Given the description of an element on the screen output the (x, y) to click on. 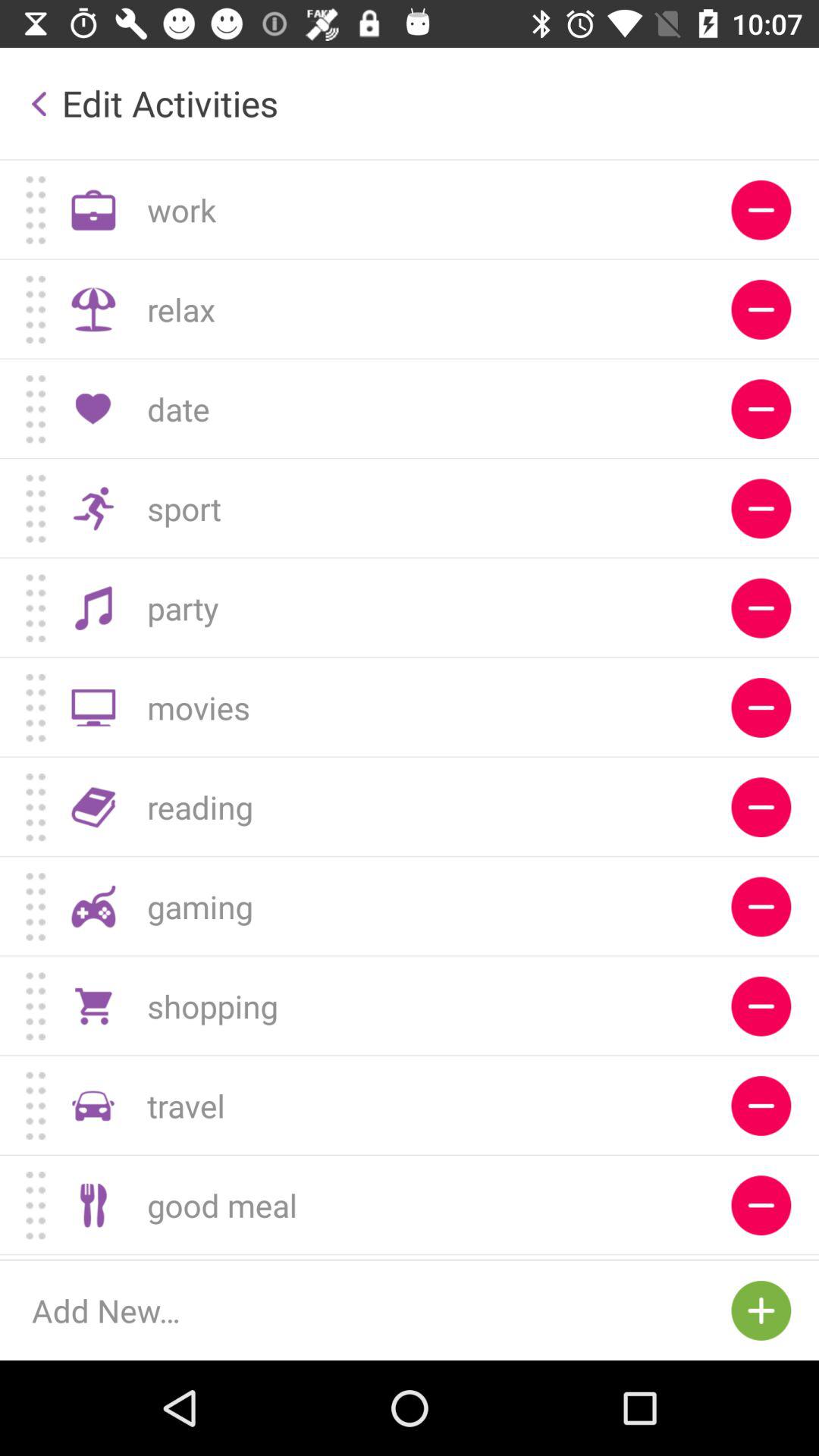
deleting option (761, 1257)
